Given the description of an element on the screen output the (x, y) to click on. 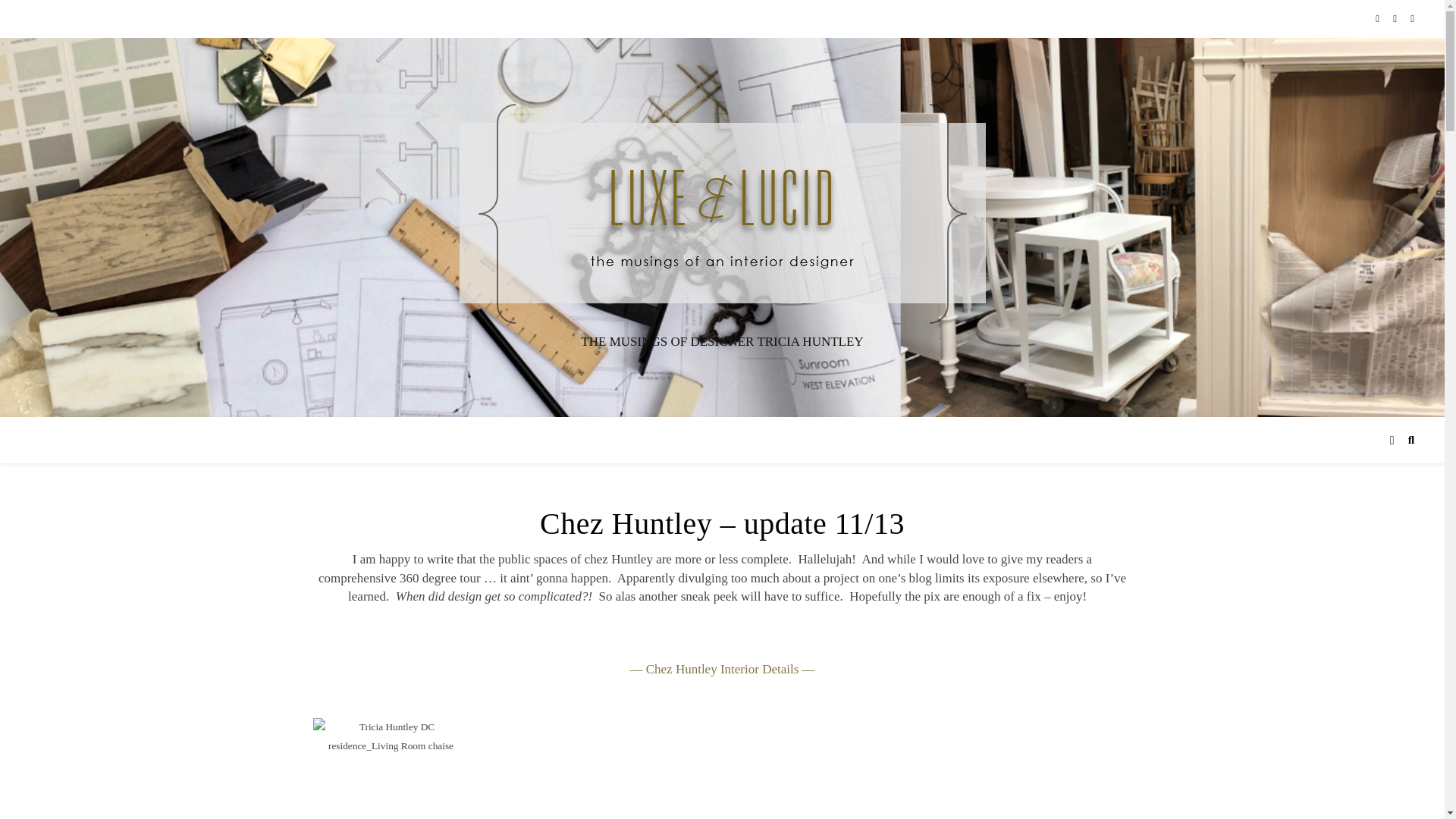
01 (390, 768)
LUXE AND LUCID (722, 213)
